Given the description of an element on the screen output the (x, y) to click on. 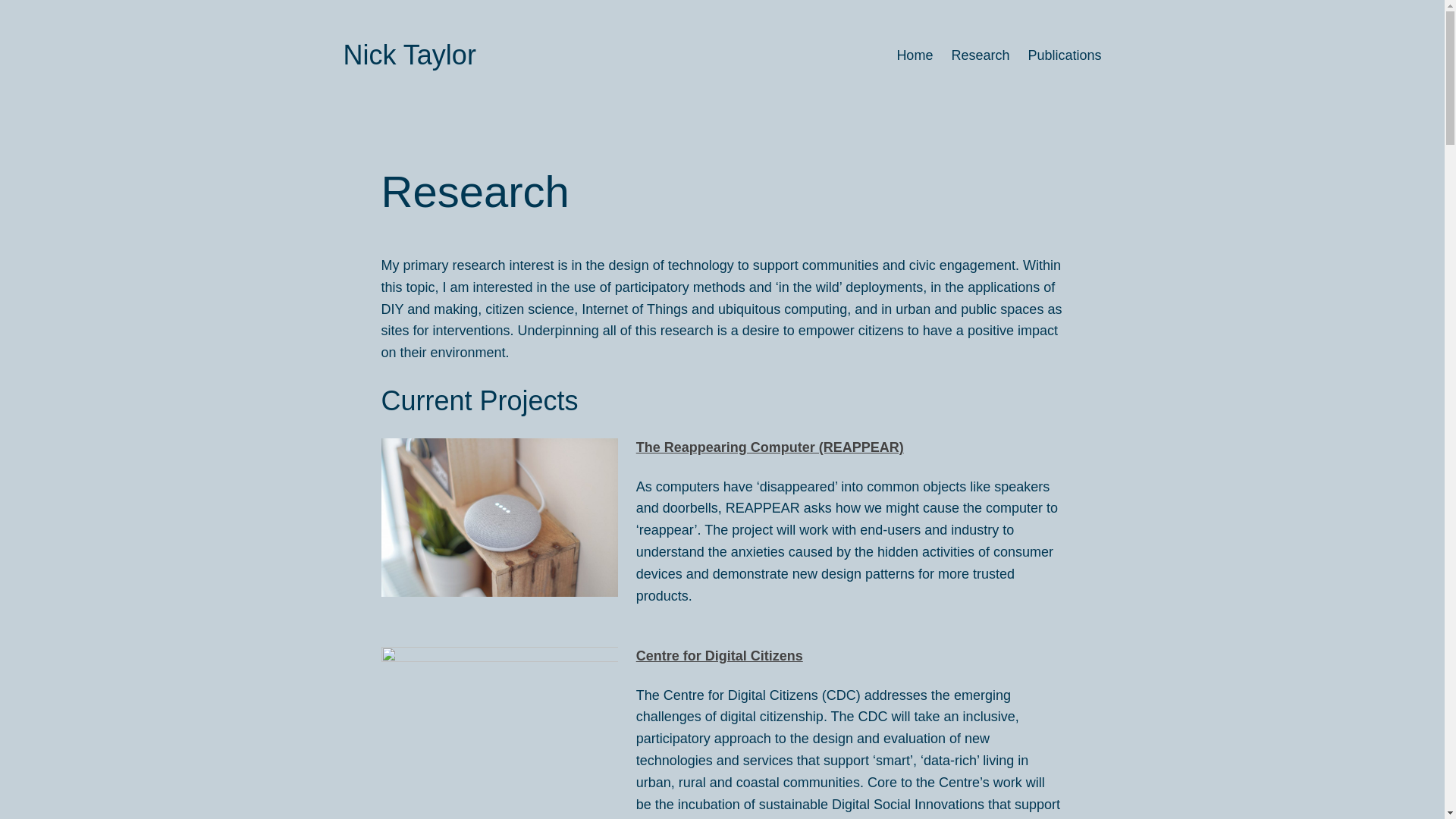
Nick Taylor (409, 54)
Home (914, 55)
Research (979, 55)
Publications (1063, 55)
Centre for Digital Citizens (719, 655)
